Given the description of an element on the screen output the (x, y) to click on. 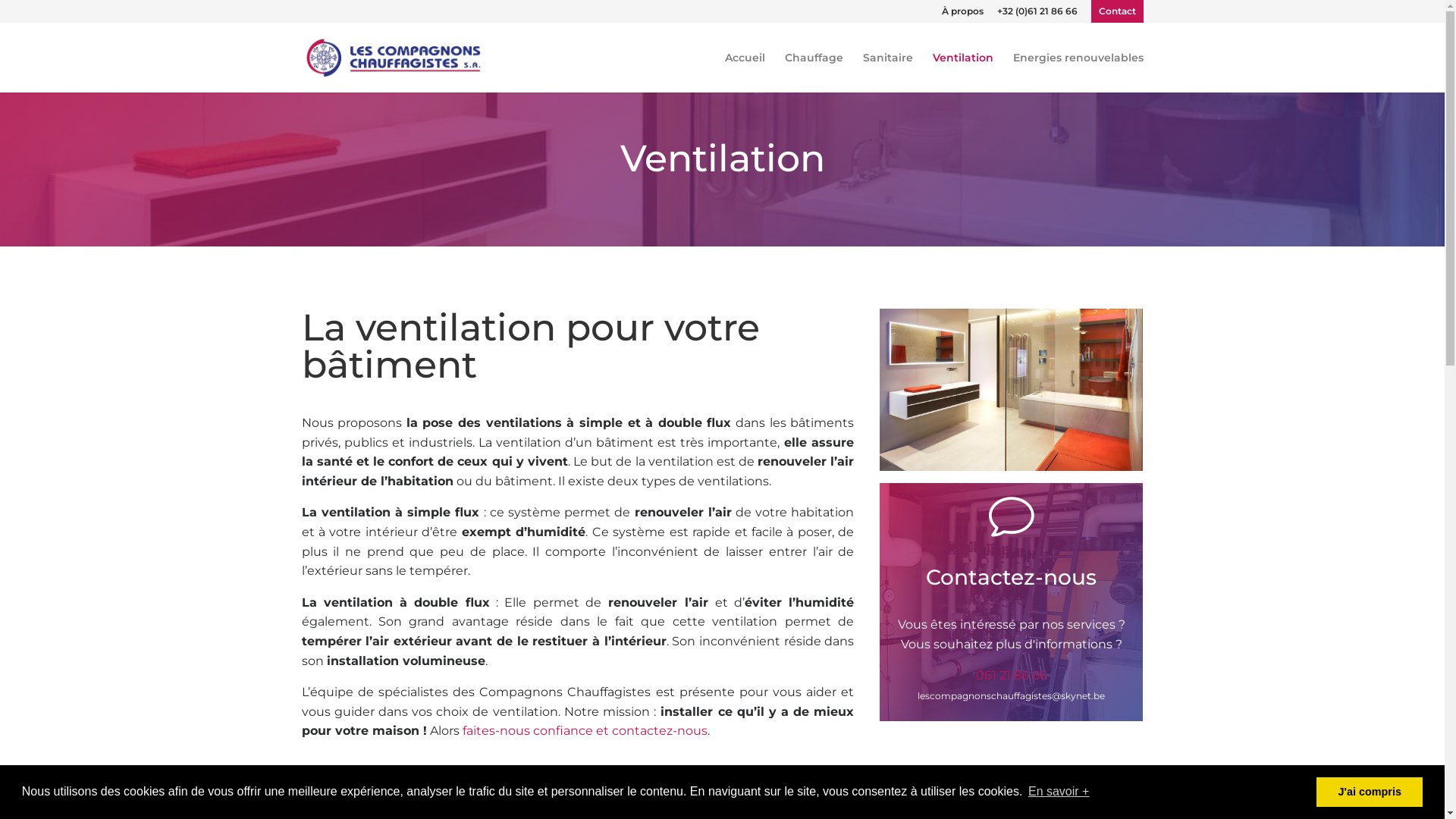
061 21 86 66 Element type: text (1011, 675)
Energies renouvelables Element type: text (1078, 68)
Ventilation Element type: text (962, 68)
+32 (0)61 21 86 66 Element type: text (1036, 14)
faites-nous confiance et contactez-nous Element type: text (583, 730)
Accueil Element type: text (744, 68)
Sanitaire Element type: text (887, 68)
lescompagnonschauffagistes@skynet.be Element type: text (1010, 695)
J'ai compris Element type: text (1369, 791)
Chauffage Element type: text (813, 68)
En savoir + Element type: text (1059, 791)
